Given the description of an element on the screen output the (x, y) to click on. 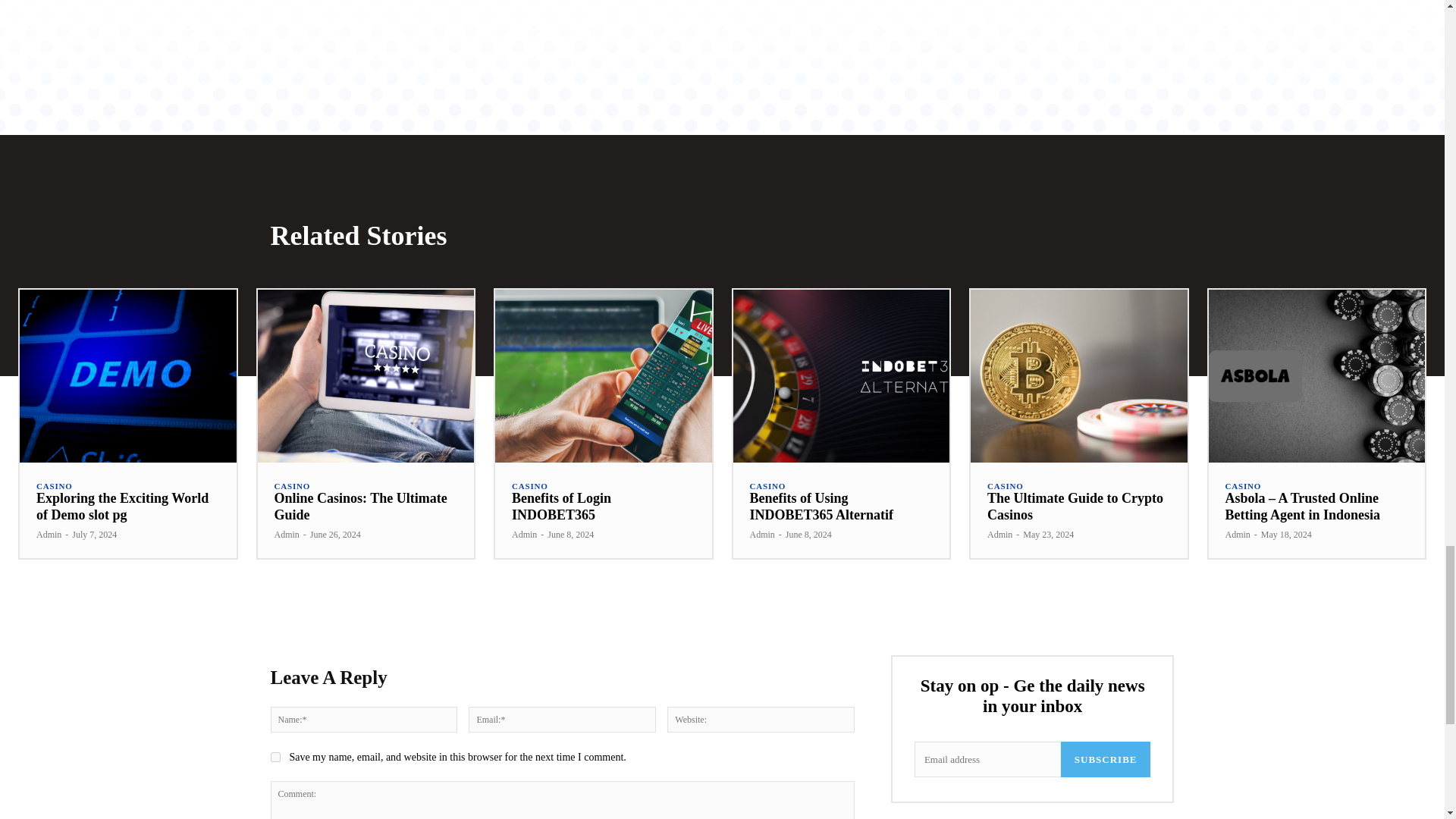
Exploring the Exciting World of Demo slot pg (127, 375)
Exploring the Exciting World of Demo slot pg (122, 506)
Online Casinos: The Ultimate Guide (365, 375)
Online Casinos: The Ultimate Guide (360, 506)
Benefits of Login INDOBET365 (603, 375)
yes (274, 757)
